Given the description of an element on the screen output the (x, y) to click on. 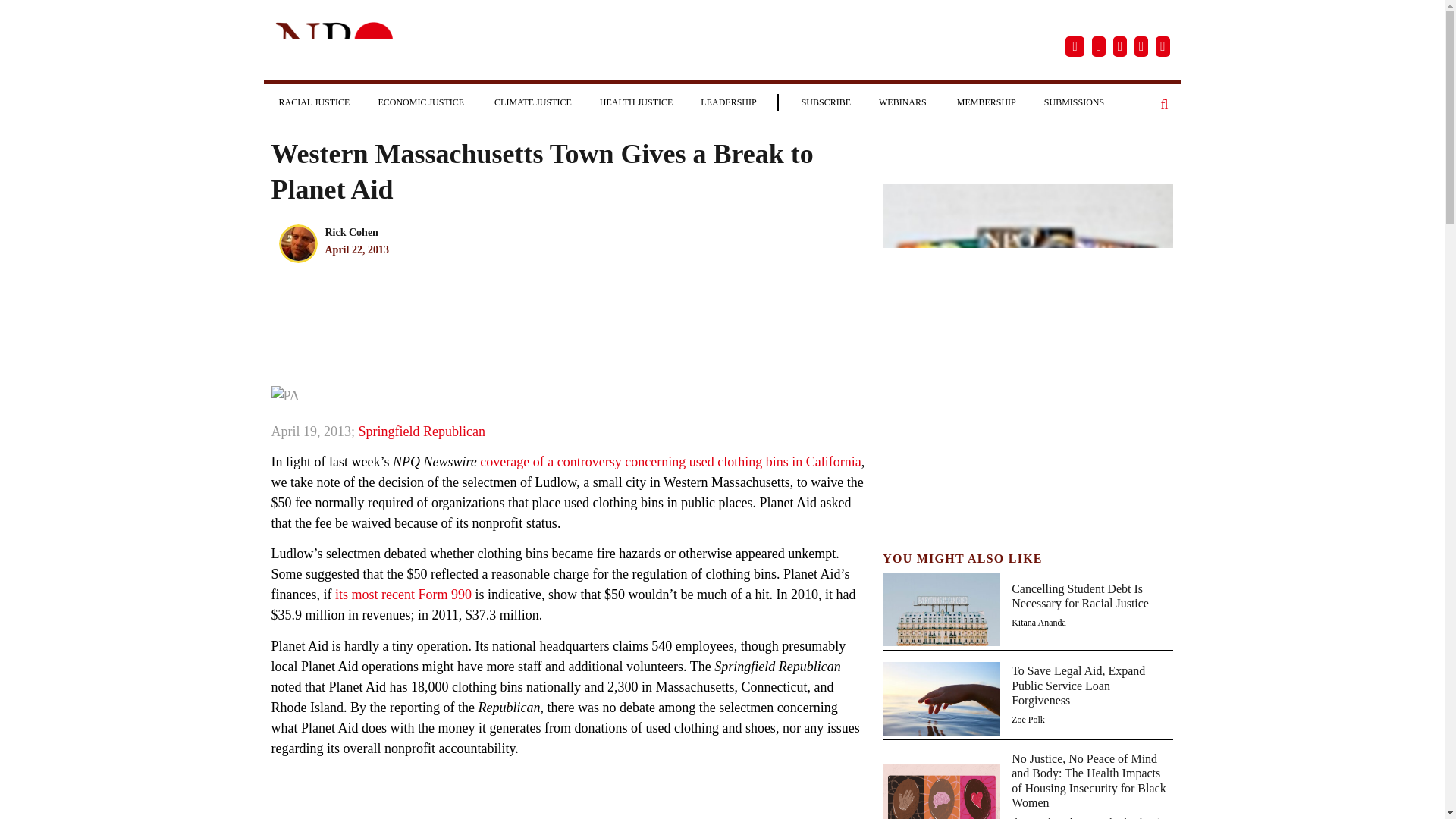
Posts by Rick Cohen (350, 232)
Submissions (1074, 102)
Economic Justice (421, 102)
Subscribe (826, 102)
Leadership (727, 102)
Search (1164, 104)
Racial Justice (314, 102)
MEMBERSHIP (986, 102)
LEADERSHIP (727, 102)
Kitana Ananda (1038, 622)
